Given the description of an element on the screen output the (x, y) to click on. 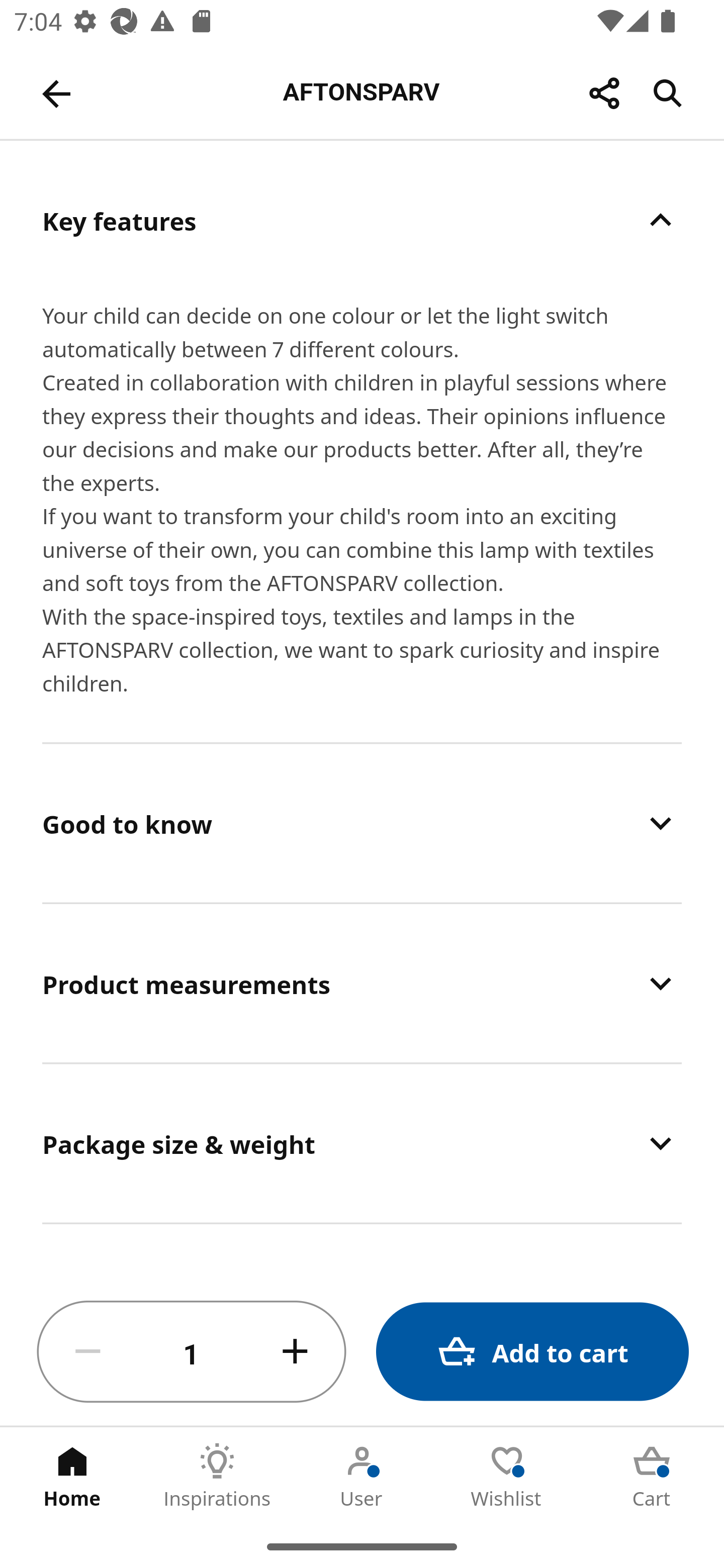
Key features (361, 219)
Good to know (361, 823)
Product measurements (361, 983)
Package size & weight (361, 1143)
Add to cart (531, 1352)
1 (191, 1352)
Home
Tab 1 of 5 (72, 1476)
Inspirations
Tab 2 of 5 (216, 1476)
User
Tab 3 of 5 (361, 1476)
Wishlist
Tab 4 of 5 (506, 1476)
Cart
Tab 5 of 5 (651, 1476)
